Given the description of an element on the screen output the (x, y) to click on. 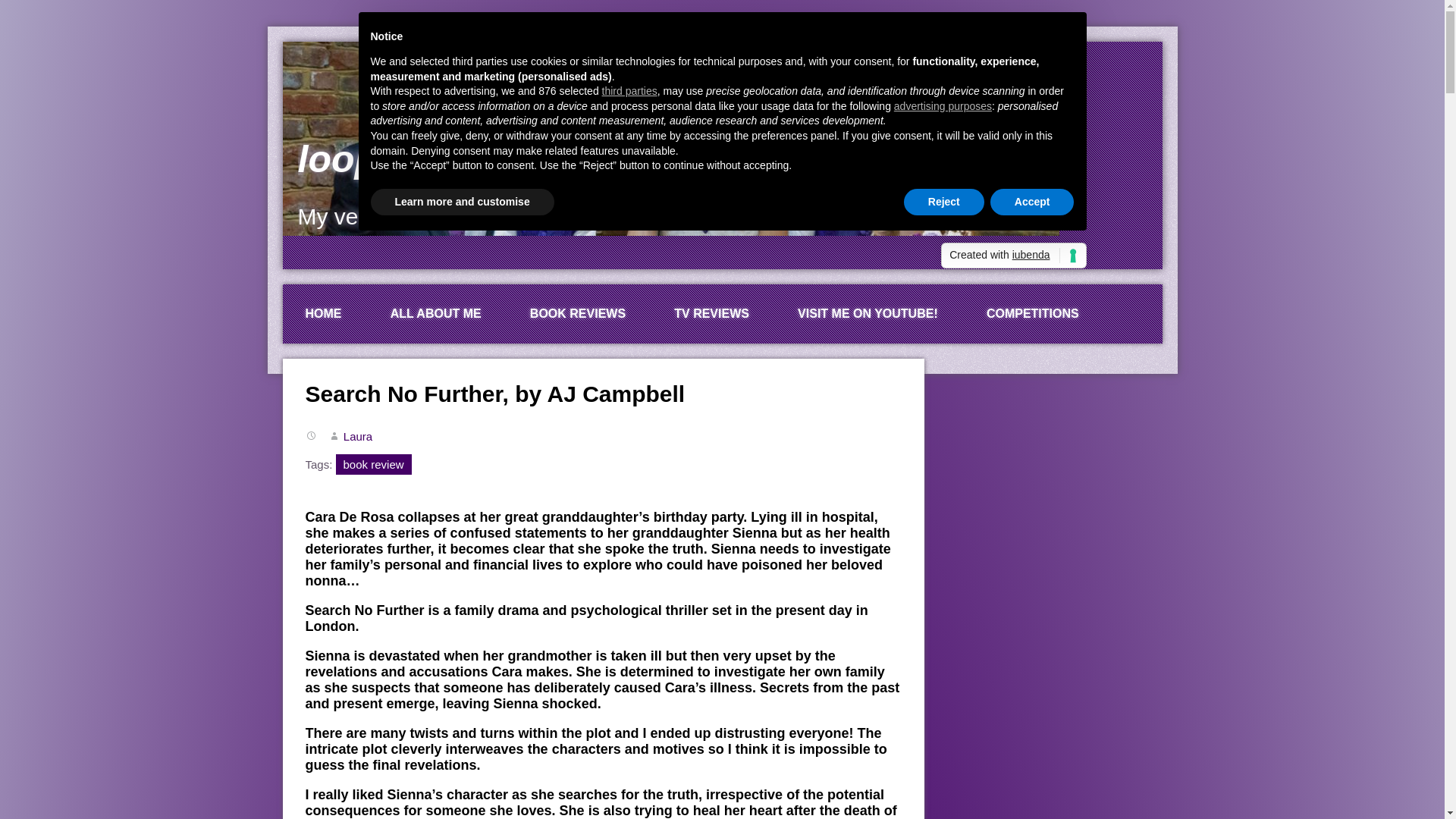
HOME (323, 313)
VISIT ME ON YOUTUBE! (867, 313)
BOOK REVIEWS (576, 313)
iubenda - Cookie Policy and Cookie Compliance Management (1013, 255)
loopyloulaura (421, 159)
Permalink to Search No Further, by AJ Campbell (494, 393)
COMPETITIONS (1032, 313)
loopyloulaura (421, 159)
Search No Further, by AJ Campbell (494, 393)
View all posts by Laura (357, 436)
book review (374, 464)
Laura (357, 436)
TV REVIEWS (710, 313)
ALL ABOUT ME (435, 313)
